Given the description of an element on the screen output the (x, y) to click on. 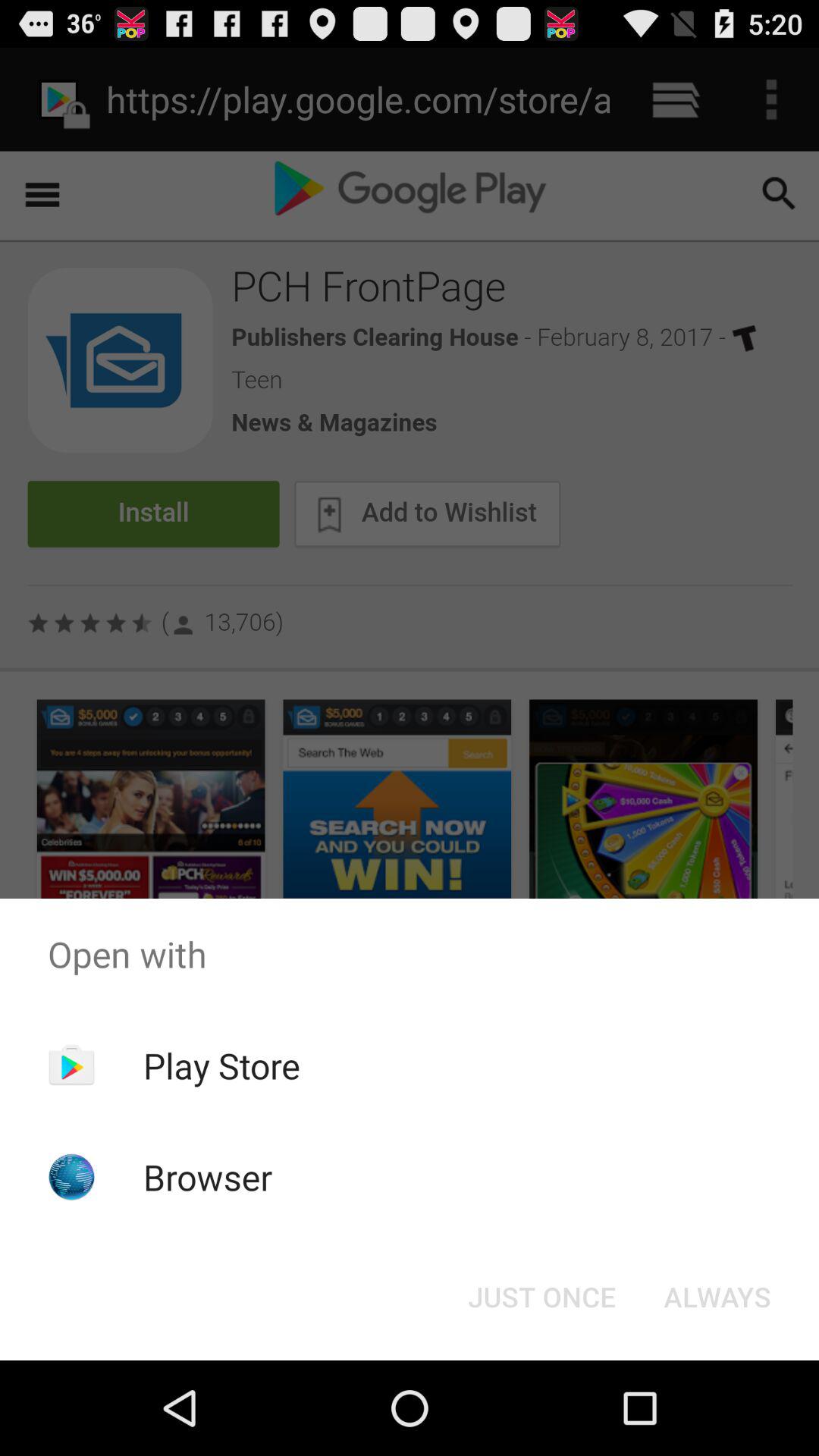
jump to browser (207, 1176)
